Given the description of an element on the screen output the (x, y) to click on. 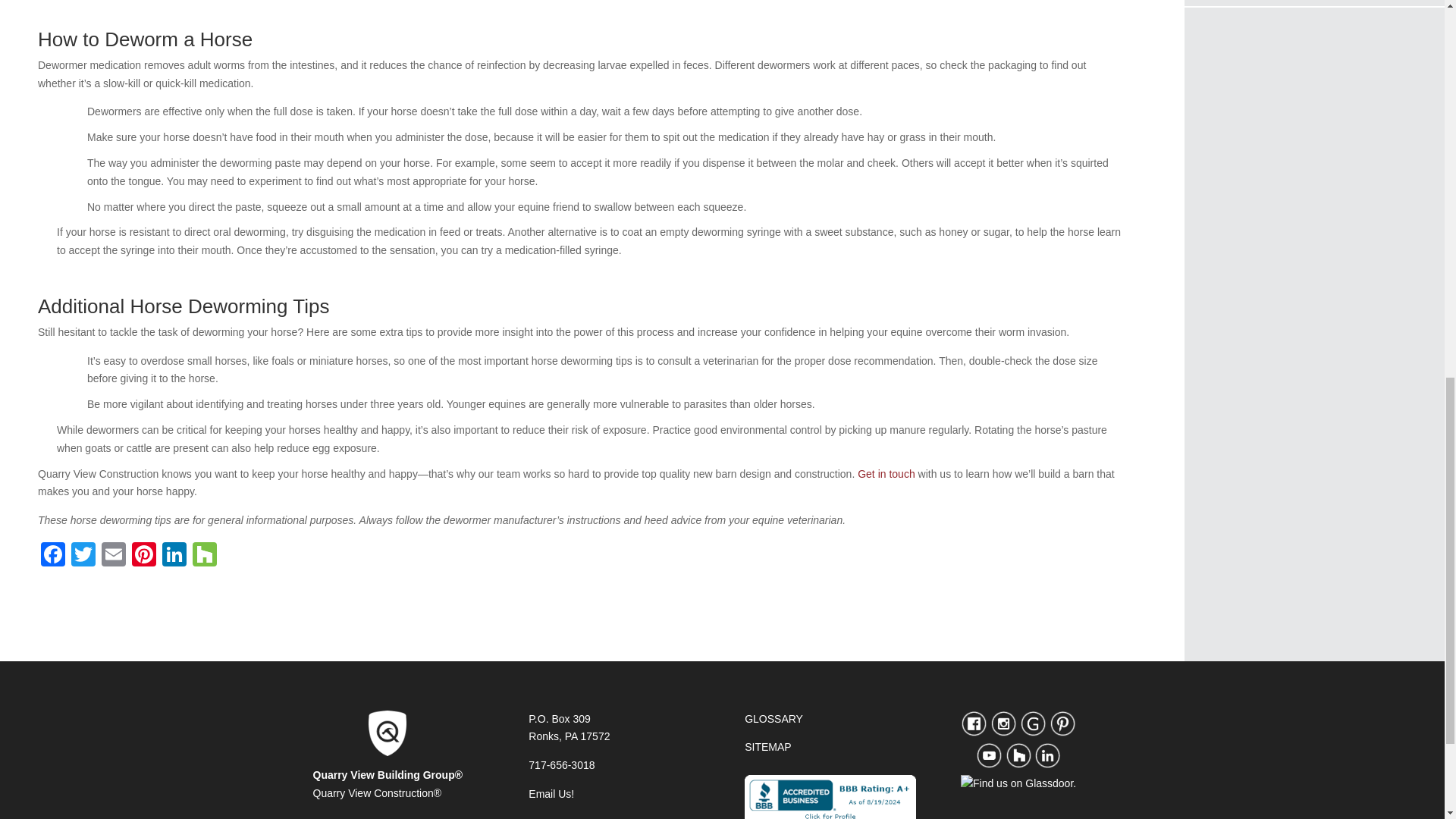
Twitter (83, 556)
Facebook (52, 556)
Follow Quarry View Building Group on Instagram (1003, 732)
LinkedIn (173, 556)
Design and Construction Glossary (773, 718)
LinkedIn (173, 556)
Email Us! (550, 793)
SITEMAP (767, 746)
Email (114, 556)
Houzz (204, 556)
